Given the description of an element on the screen output the (x, y) to click on. 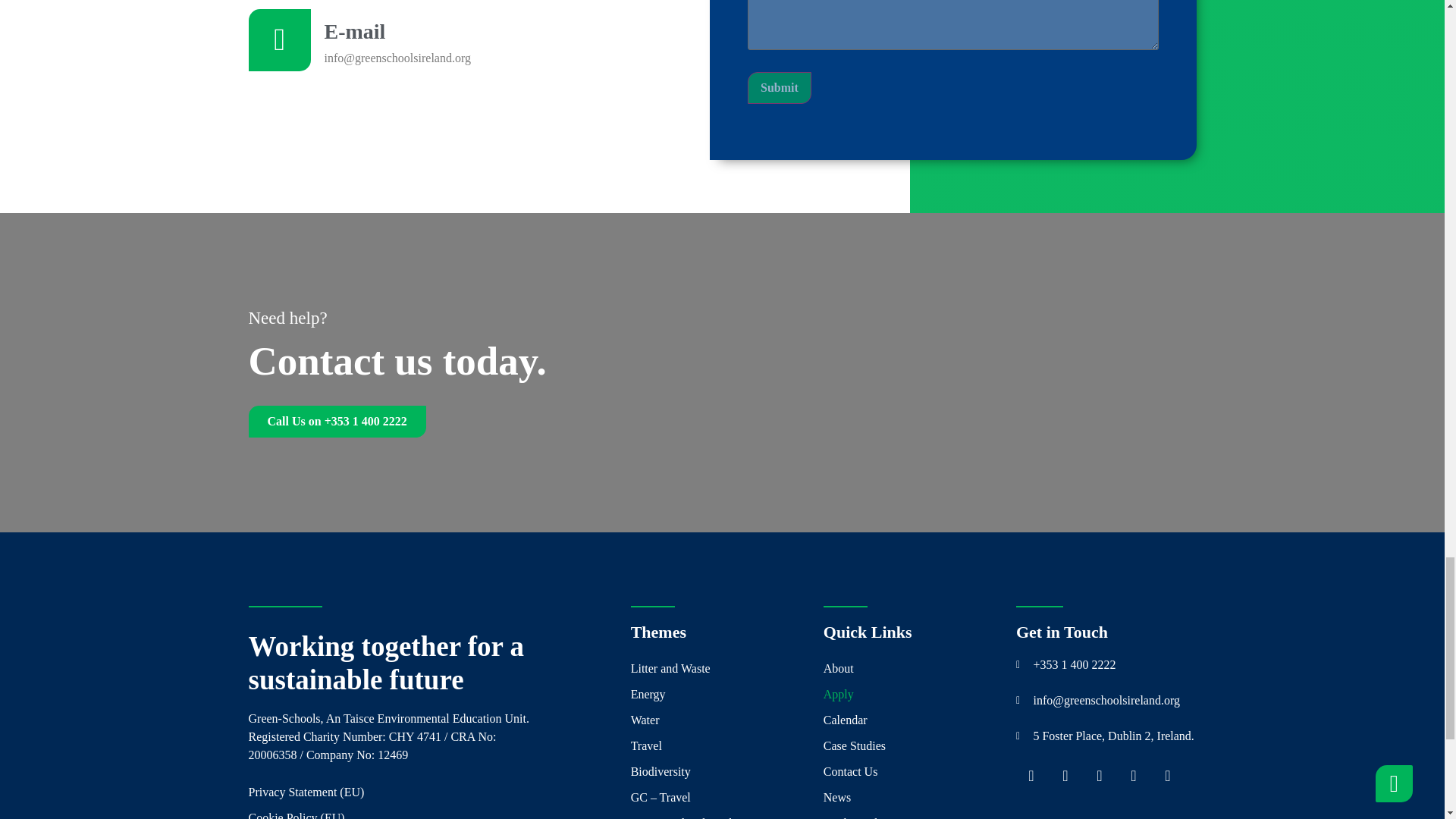
Submit (779, 88)
